Given the description of an element on the screen output the (x, y) to click on. 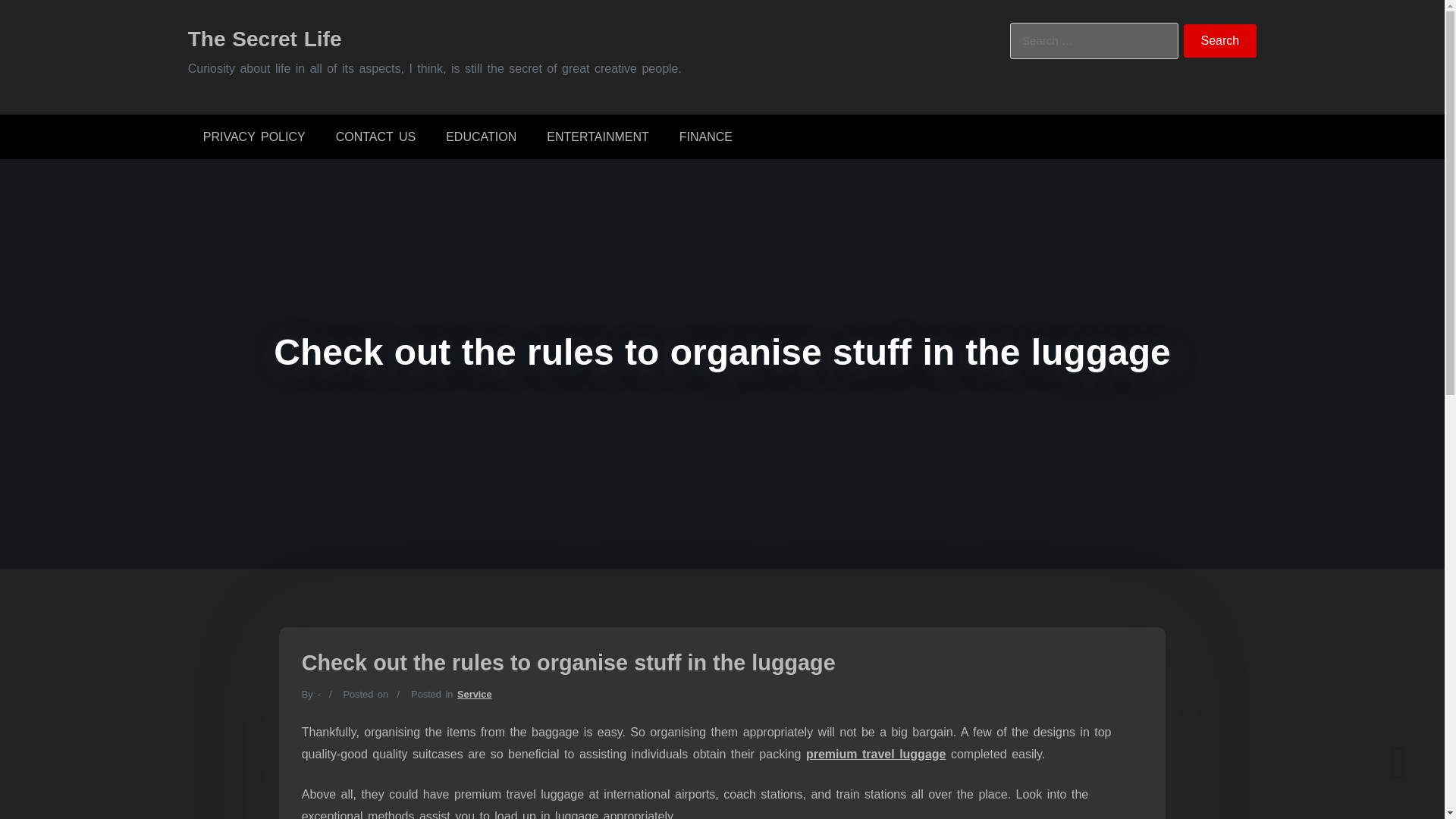
Search (1220, 40)
EDUCATION (480, 136)
Service (474, 694)
Search (1220, 40)
FINANCE (705, 136)
premium travel luggage (876, 753)
PRIVACY POLICY (253, 136)
CONTACT US (375, 136)
Search (1220, 40)
ENTERTAINMENT (597, 136)
